Given the description of an element on the screen output the (x, y) to click on. 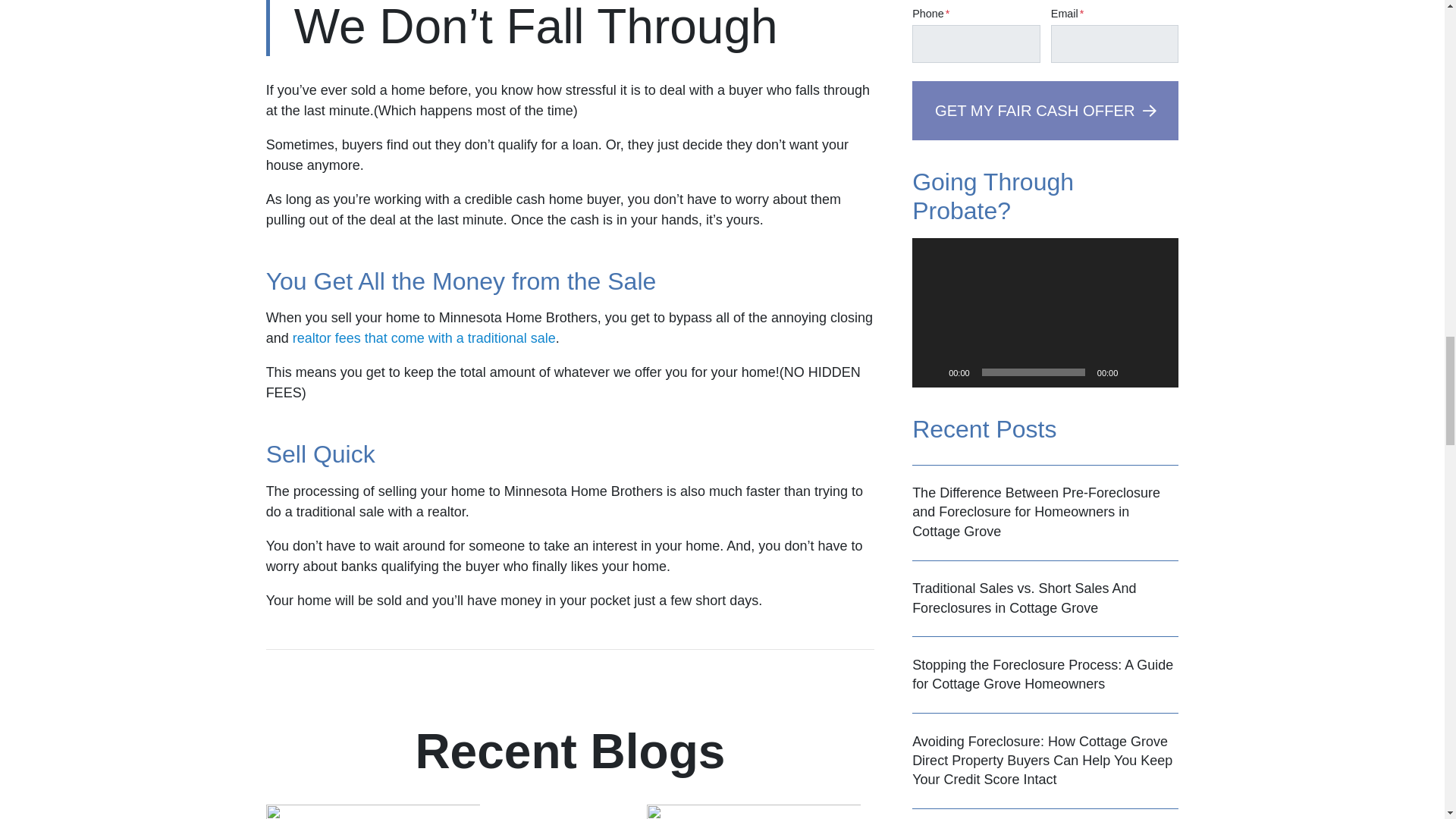
Mute (1133, 372)
Play (931, 372)
realtor fees that come with a traditional sale (424, 337)
Fullscreen (1158, 372)
GET MY FAIR CASH OFFER (1044, 110)
